Given the description of an element on the screen output the (x, y) to click on. 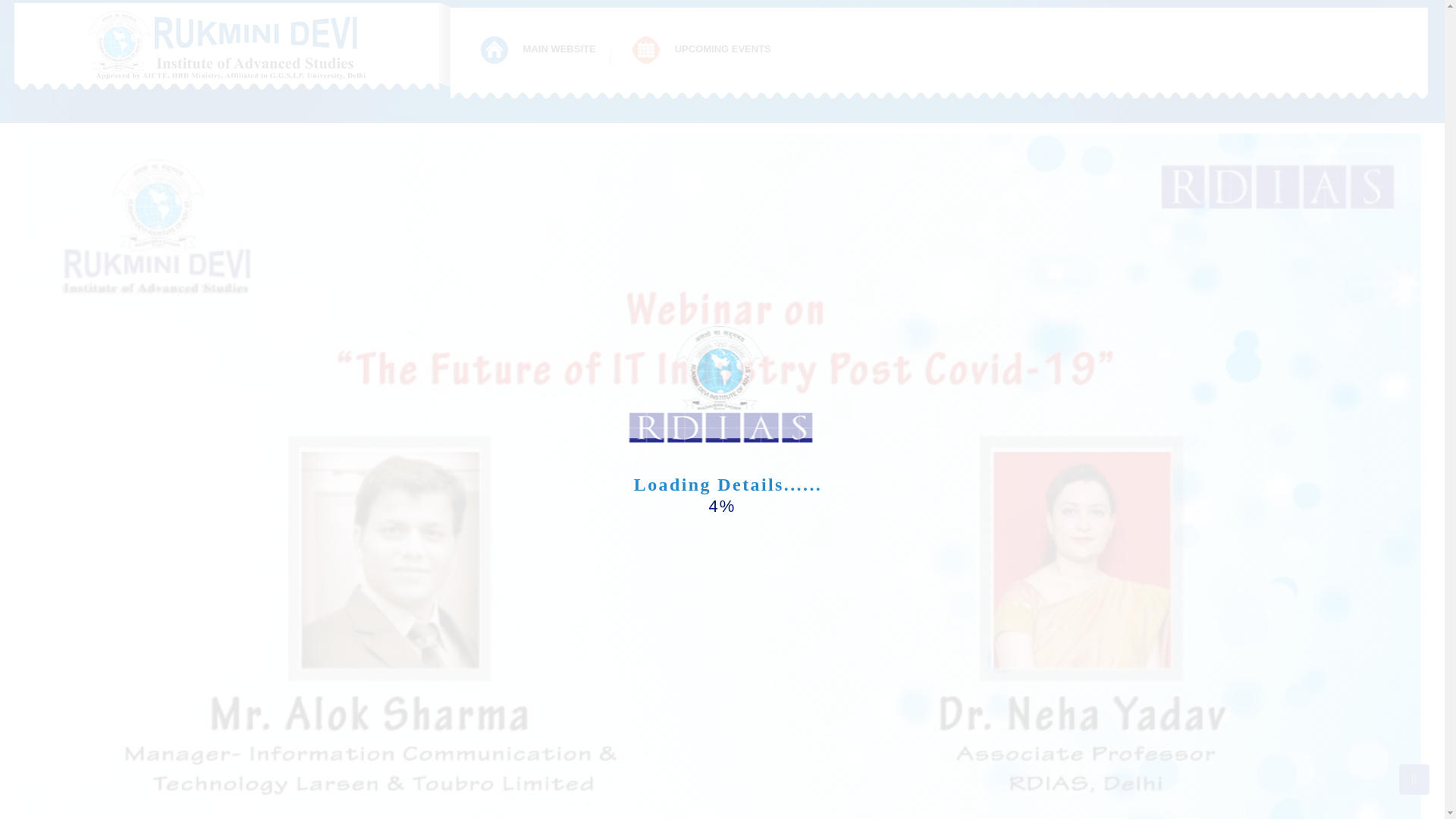
UPCOMING EVENTS (703, 50)
MAIN WEBSITE (539, 50)
